Given the description of an element on the screen output the (x, y) to click on. 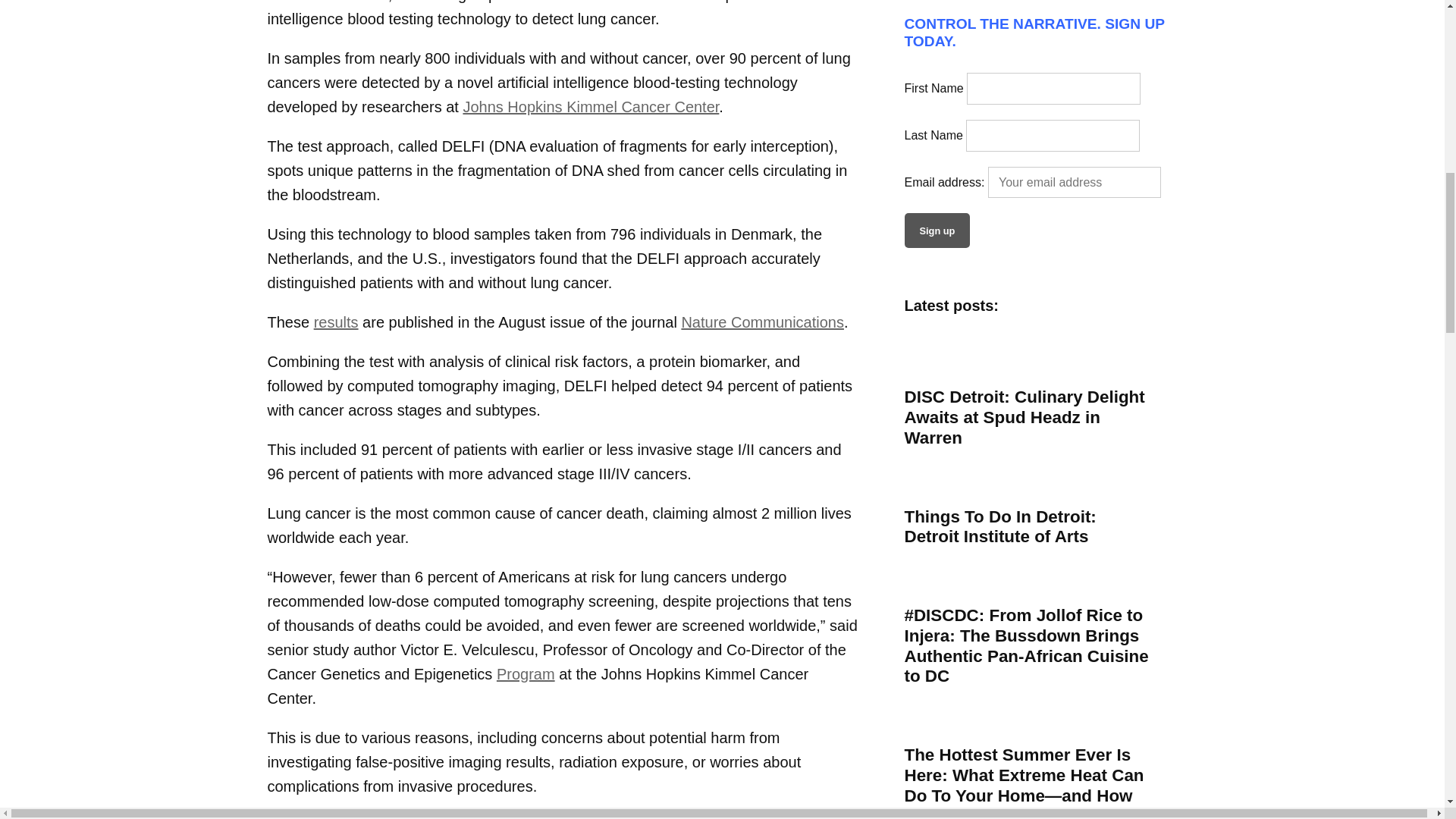
results (336, 321)
Sign up (936, 230)
Johns Hopkins Kimmel Cancer Center (591, 106)
Program (525, 673)
Nature Communications (762, 321)
